Given the description of an element on the screen output the (x, y) to click on. 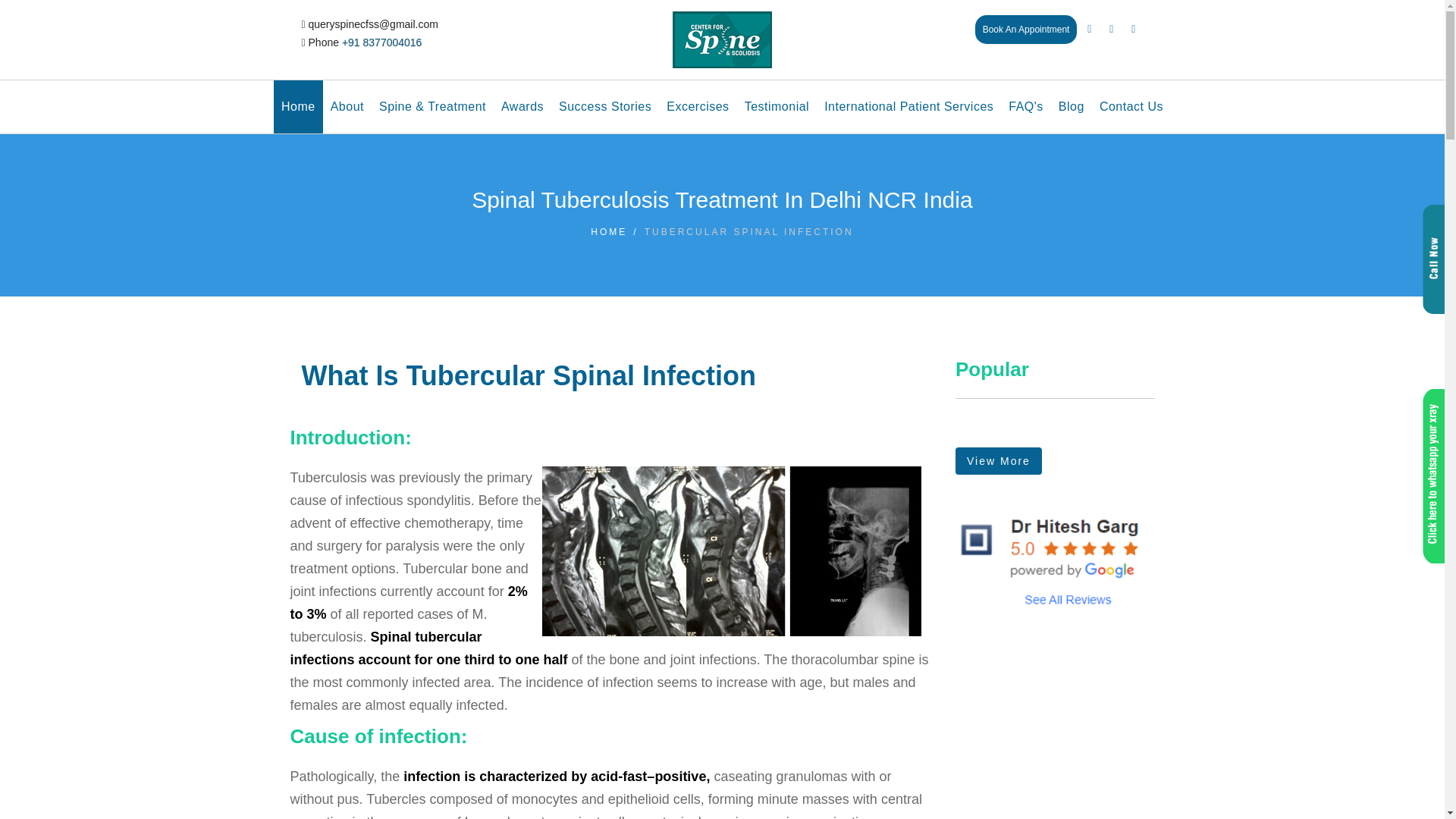
About (347, 106)
Home (298, 106)
Excercises (697, 106)
Success Stories (605, 106)
Book An Appointment (1026, 29)
Awards (522, 106)
